Given the description of an element on the screen output the (x, y) to click on. 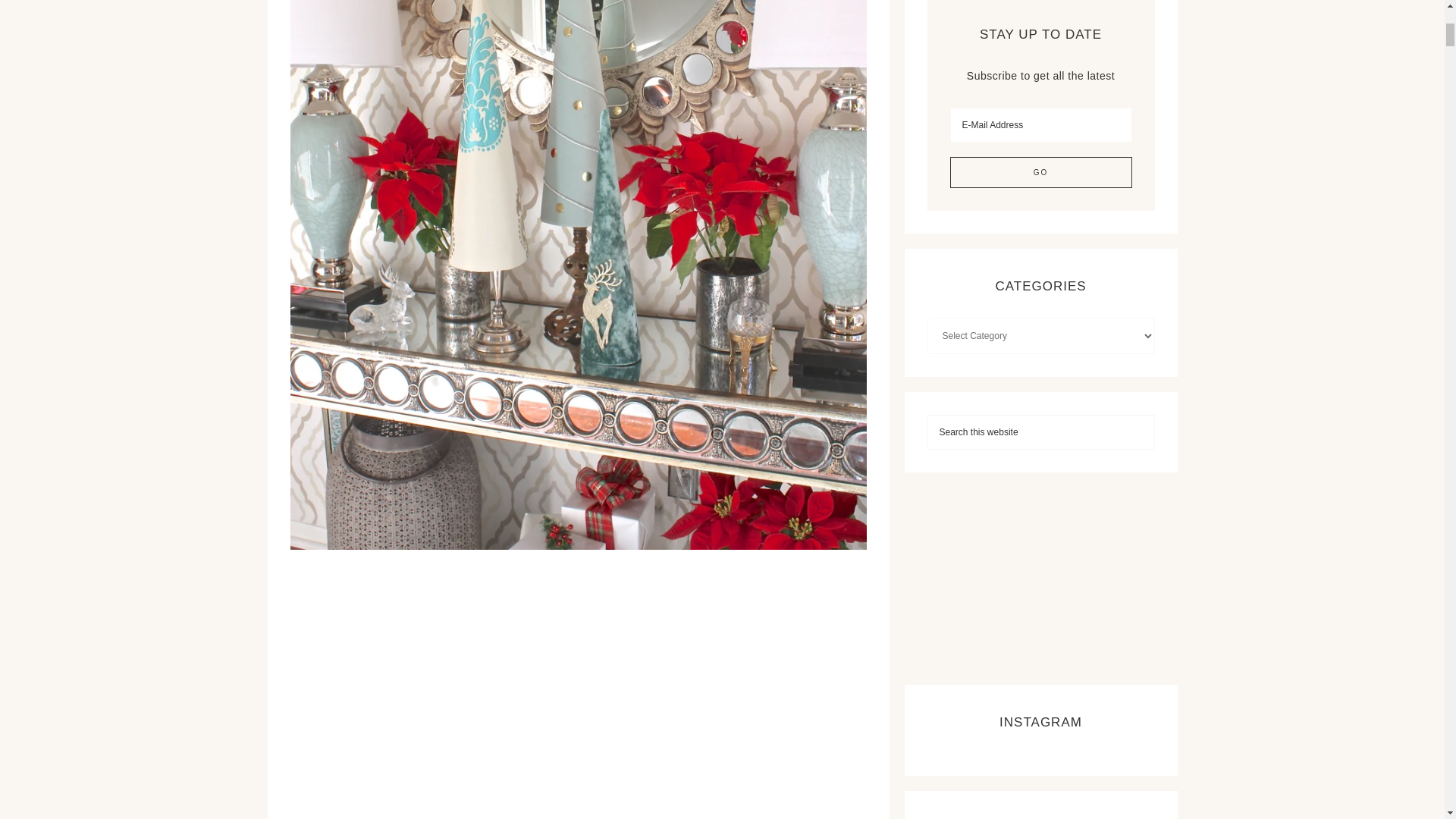
Go (1040, 172)
